Given the description of an element on the screen output the (x, y) to click on. 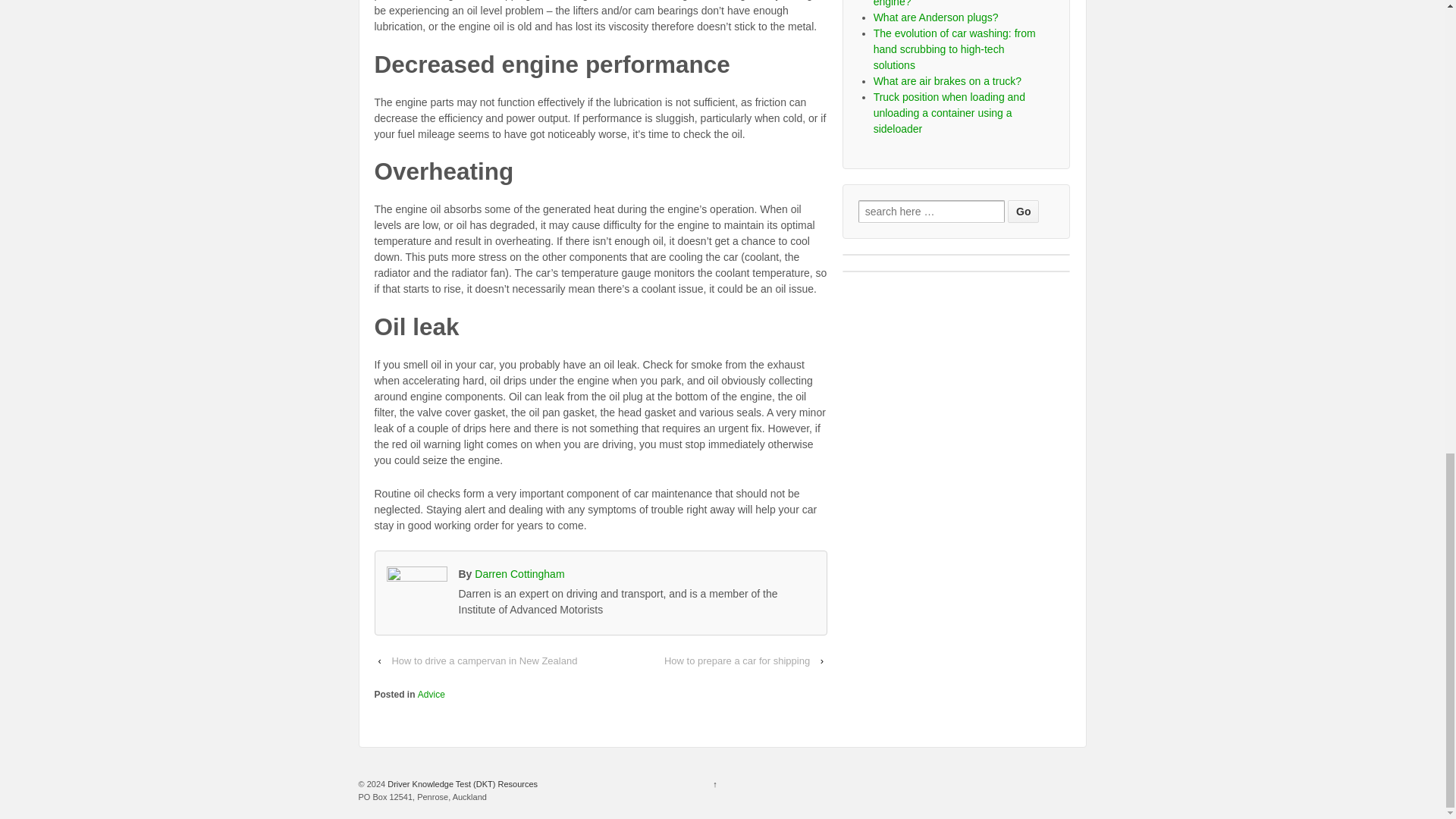
Advice (431, 694)
Darren Cottingham (519, 573)
What are Anderson plugs? (935, 17)
What are air brakes on a truck? (947, 80)
How do I get rid of rats in my engine? (941, 3)
How to drive a campervan in New Zealand (484, 660)
How to prepare a car for shipping (736, 660)
Go (1023, 210)
